Given the description of an element on the screen output the (x, y) to click on. 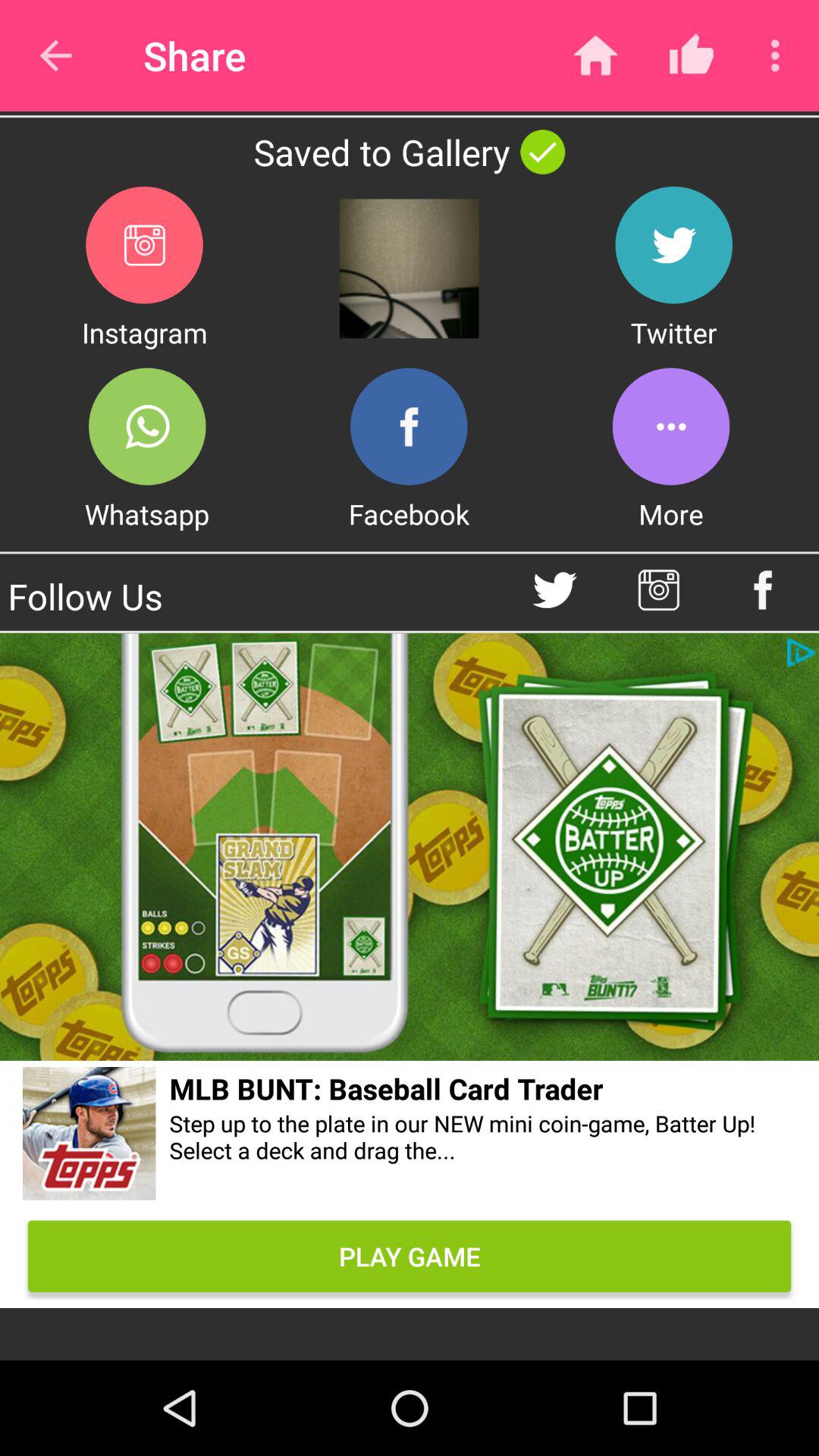
go to twitter (554, 589)
